Given the description of an element on the screen output the (x, y) to click on. 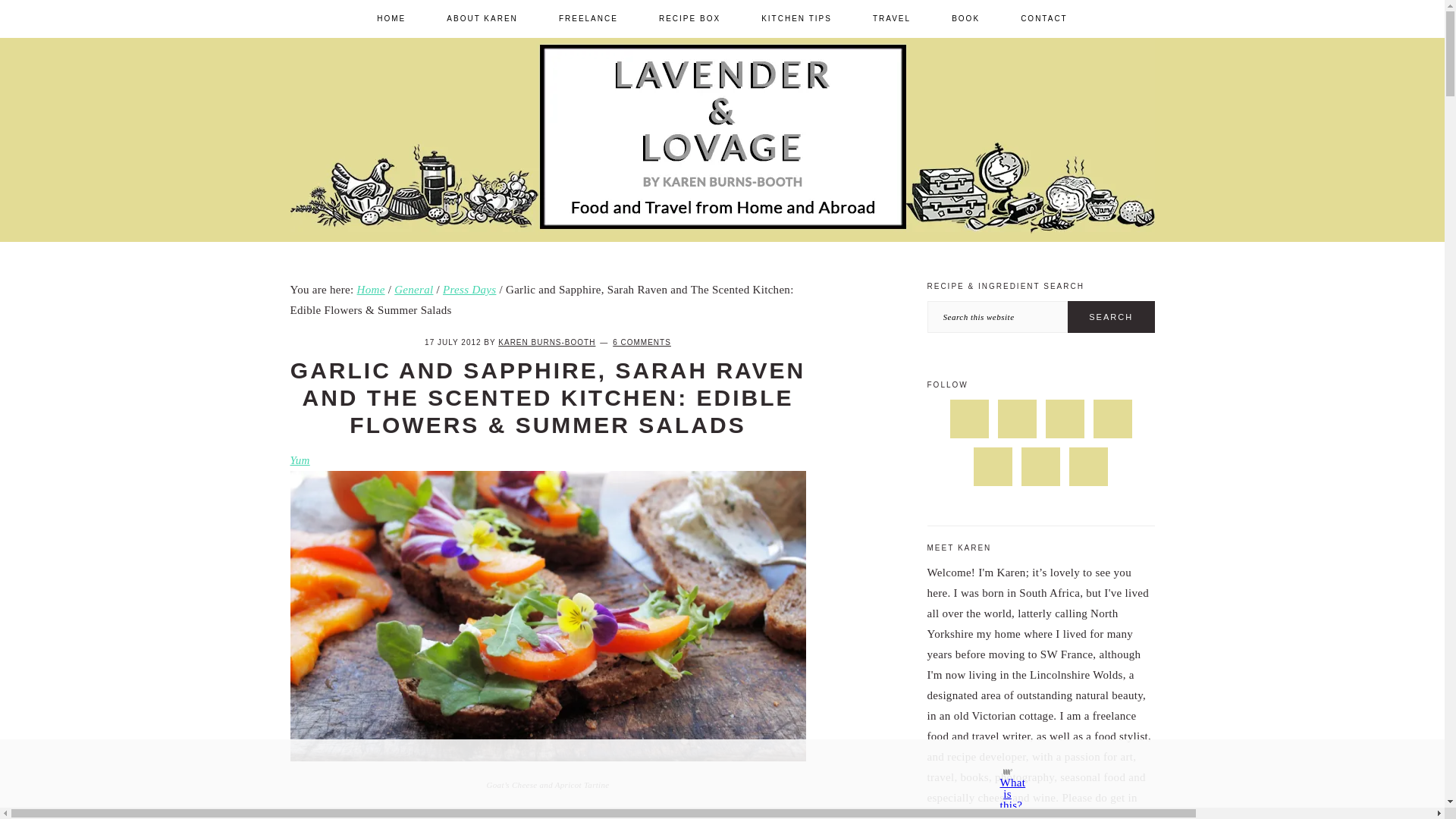
BOOK (965, 18)
TRAVEL (891, 18)
3rd party ad content (708, 773)
General (413, 289)
KITCHEN TIPS (796, 18)
Search (1110, 316)
LAVENDER AND LOVAGE (1011, 254)
6 COMMENTS (641, 342)
FREELANCE (588, 18)
CONTACT (1043, 18)
ABOUT KAREN (482, 18)
RECIPE BOX (689, 18)
Search (1110, 316)
HOME (391, 18)
